Given the description of an element on the screen output the (x, y) to click on. 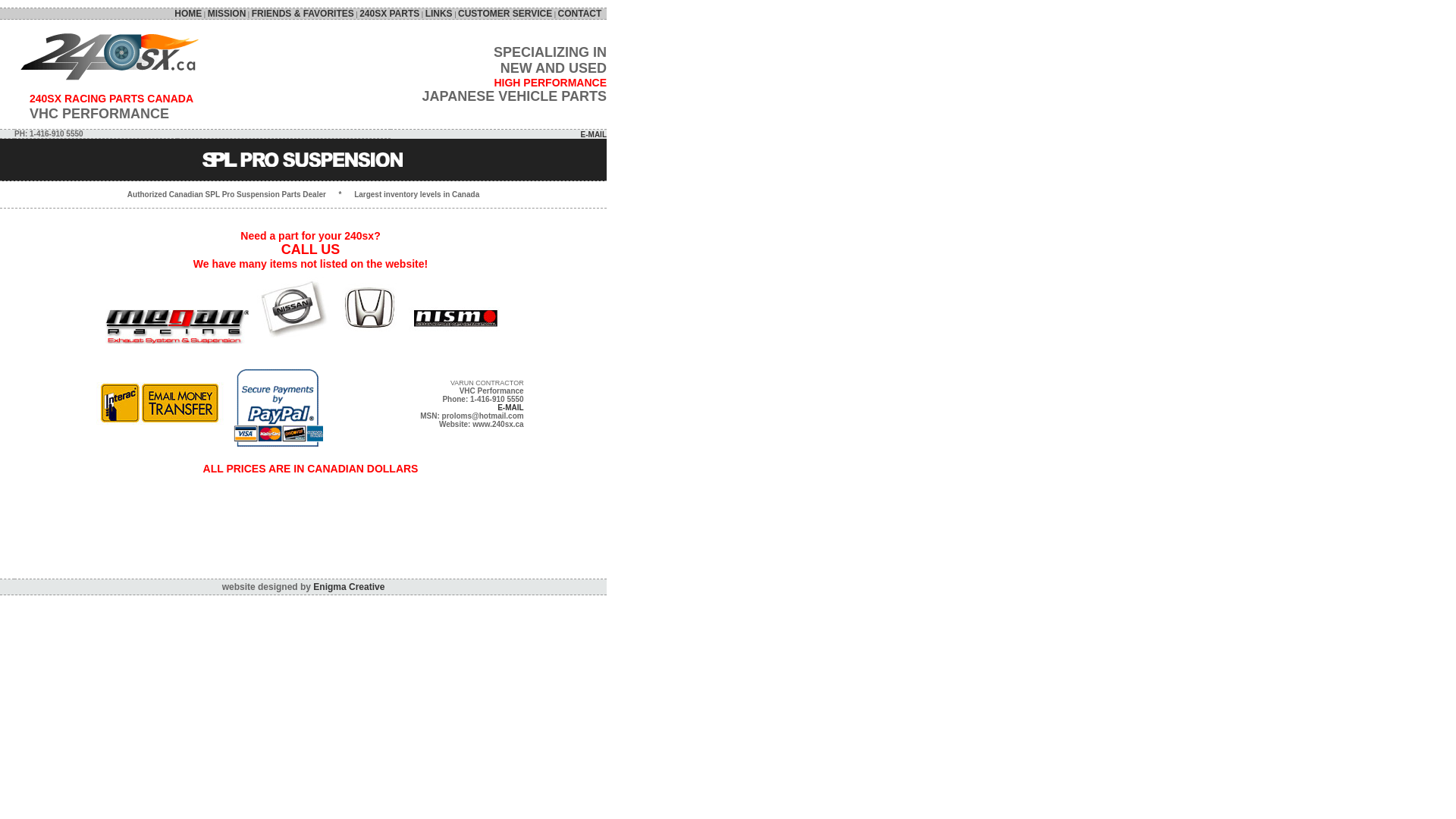
CONTACT   Element type: text (582, 13)
LINKS Element type: text (438, 13)
CUSTOMER SERVICE Element type: text (505, 13)
240SX PARTS Element type: text (389, 13)
MISSION Element type: text (226, 13)
E-MAIL Element type: text (510, 407)
FRIENDS & FAVORITES Element type: text (302, 13)
Enigma Creative Element type: text (348, 586)
E-MAIL Element type: text (593, 134)
SPL Pro Suspension Parts Element type: hover (302, 159)
HOME Element type: text (187, 13)
